Given the description of an element on the screen output the (x, y) to click on. 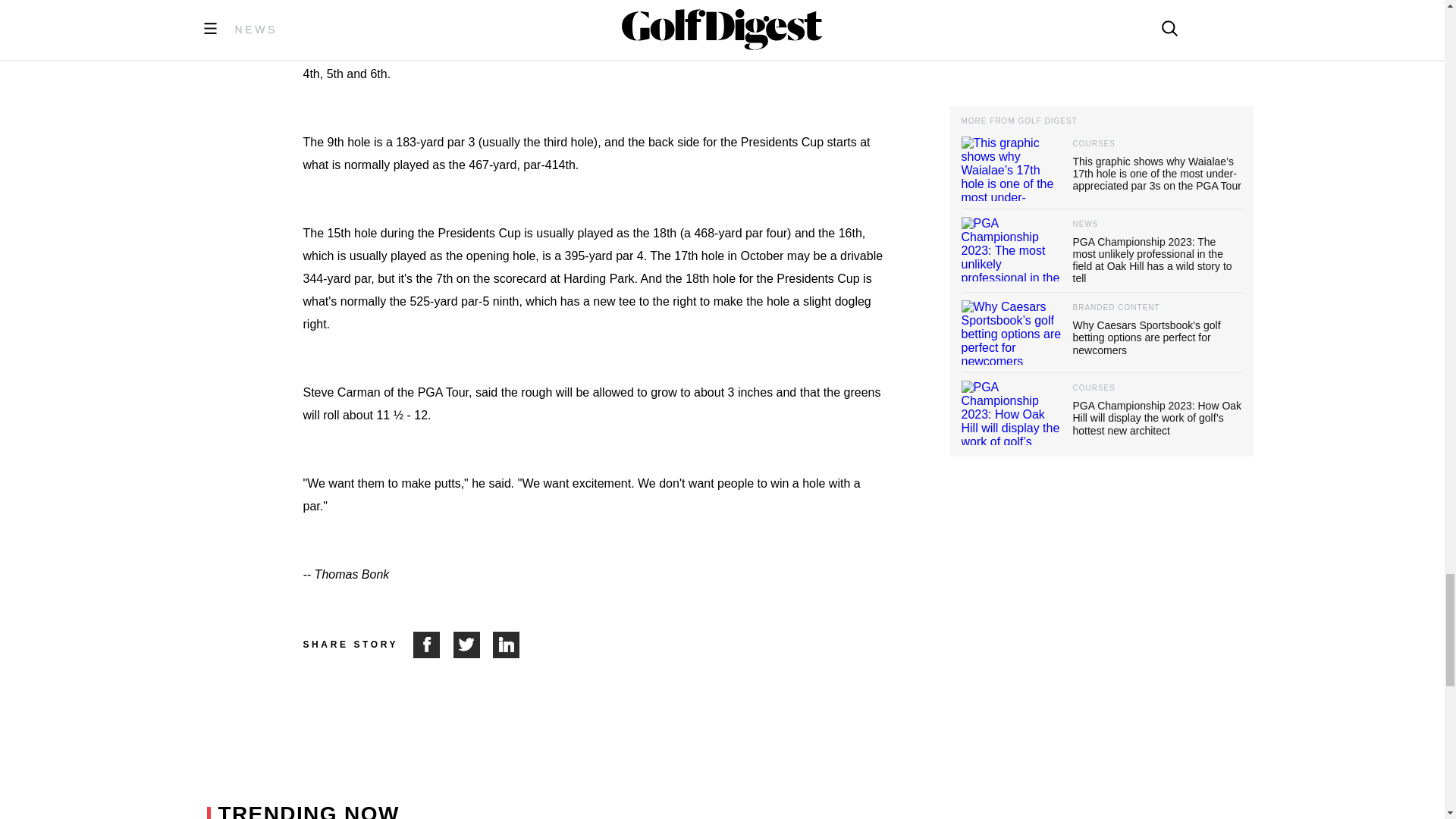
Share on LinkedIn (506, 644)
Share on Facebook (432, 644)
Share on Twitter (472, 644)
